Given the description of an element on the screen output the (x, y) to click on. 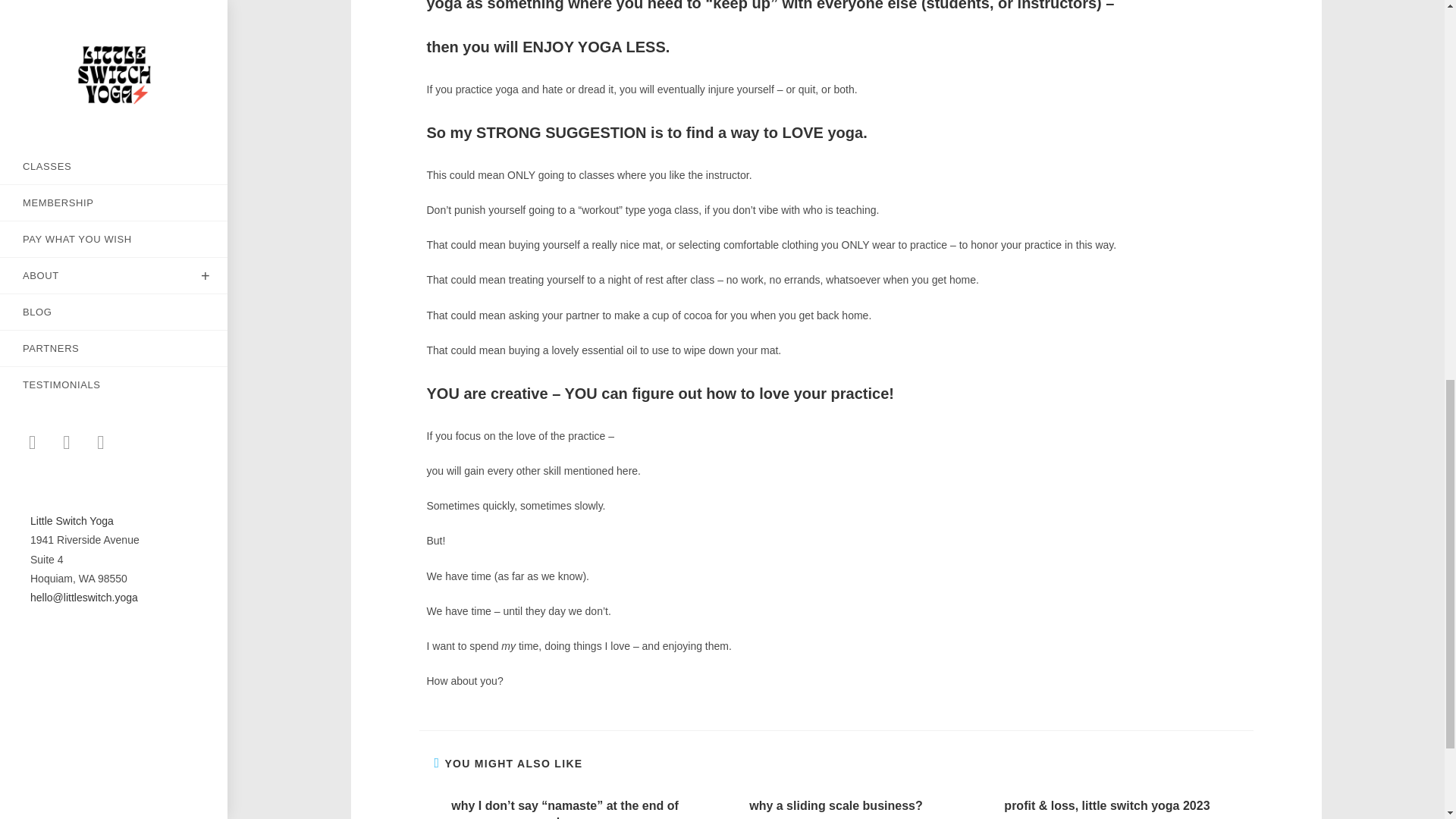
why a sliding scale business? (836, 805)
